Given the description of an element on the screen output the (x, y) to click on. 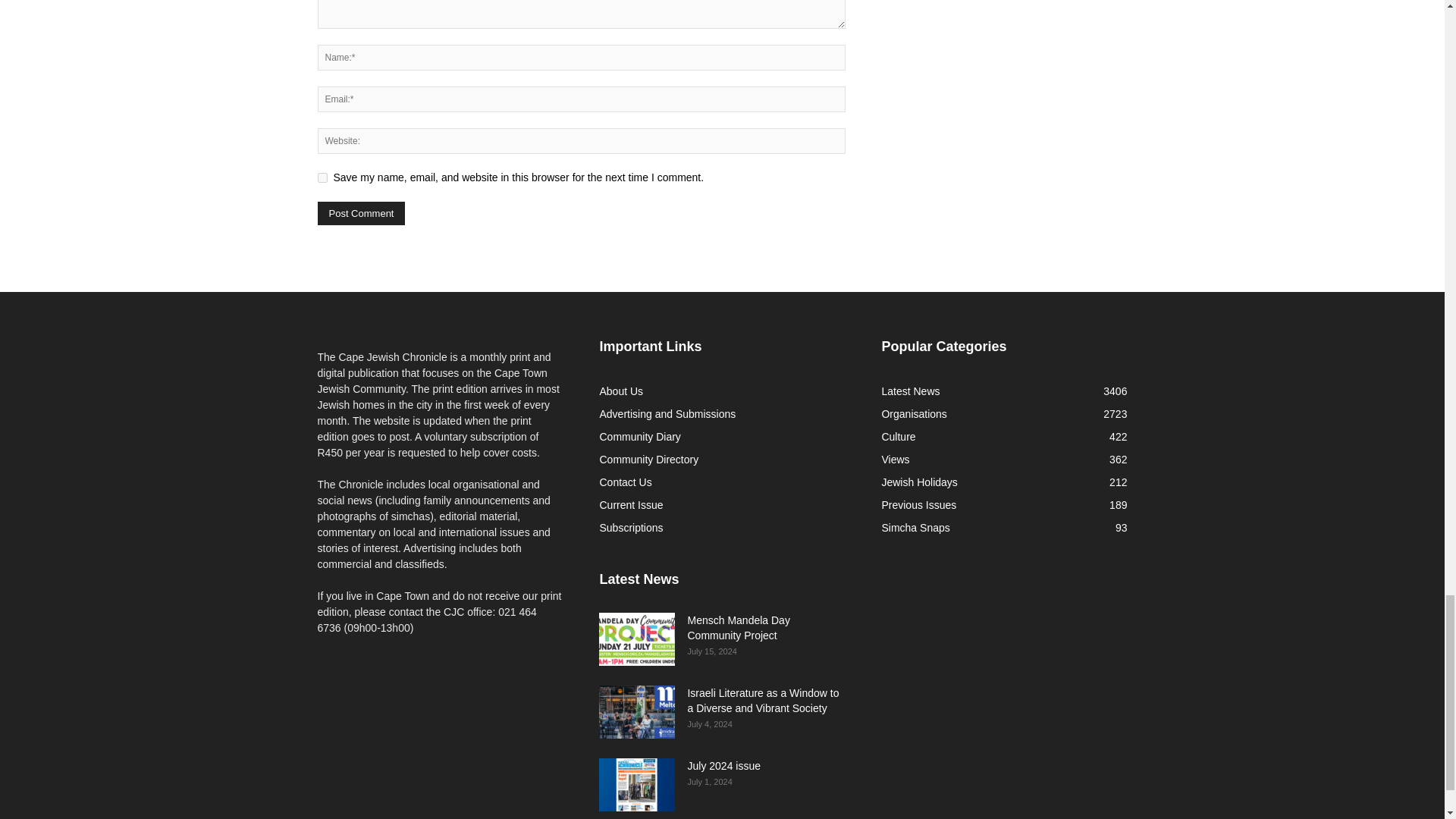
Post Comment (360, 213)
yes (321, 177)
